Given the description of an element on the screen output the (x, y) to click on. 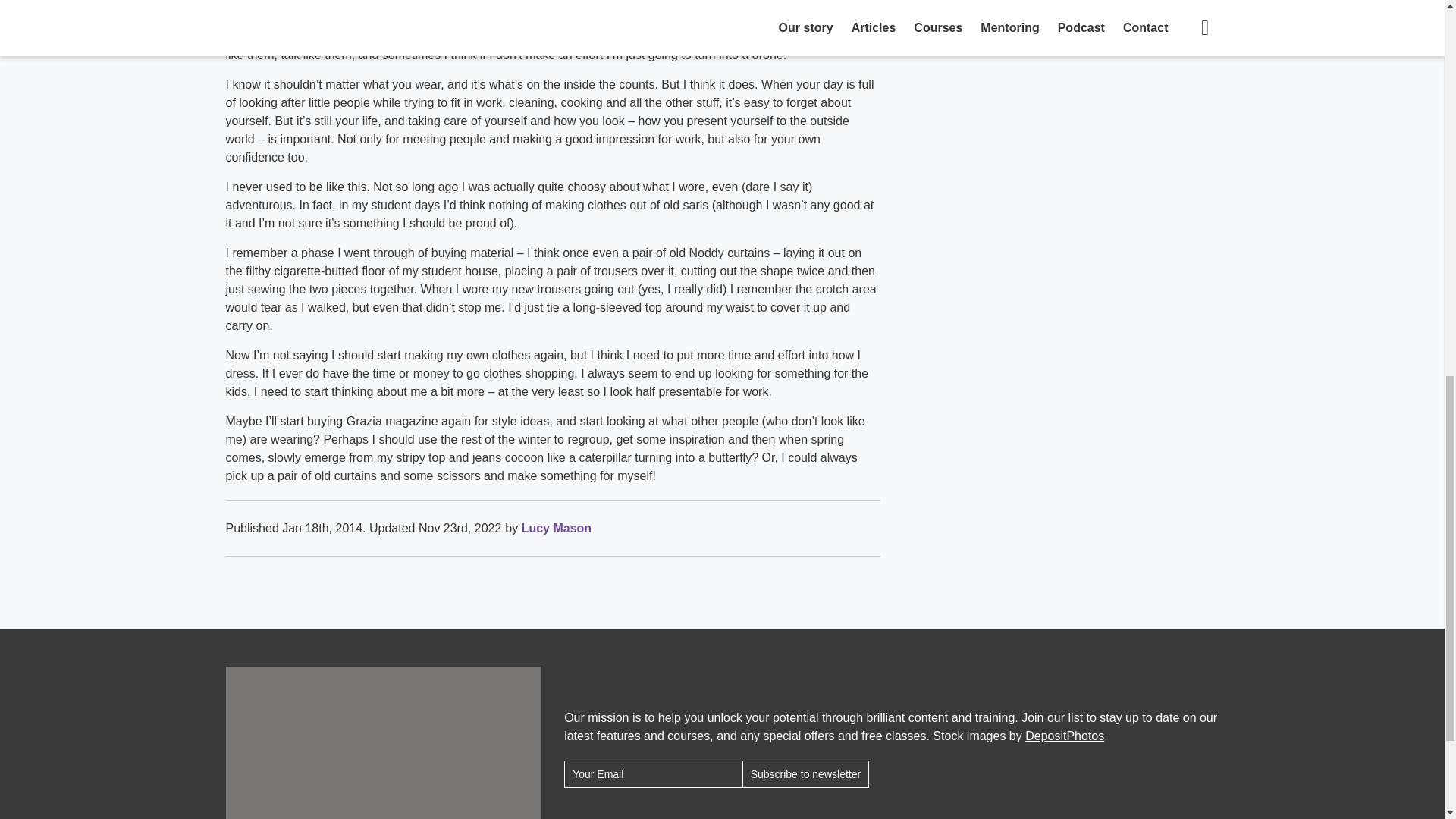
Subscribe to newsletter (805, 773)
